Given the description of an element on the screen output the (x, y) to click on. 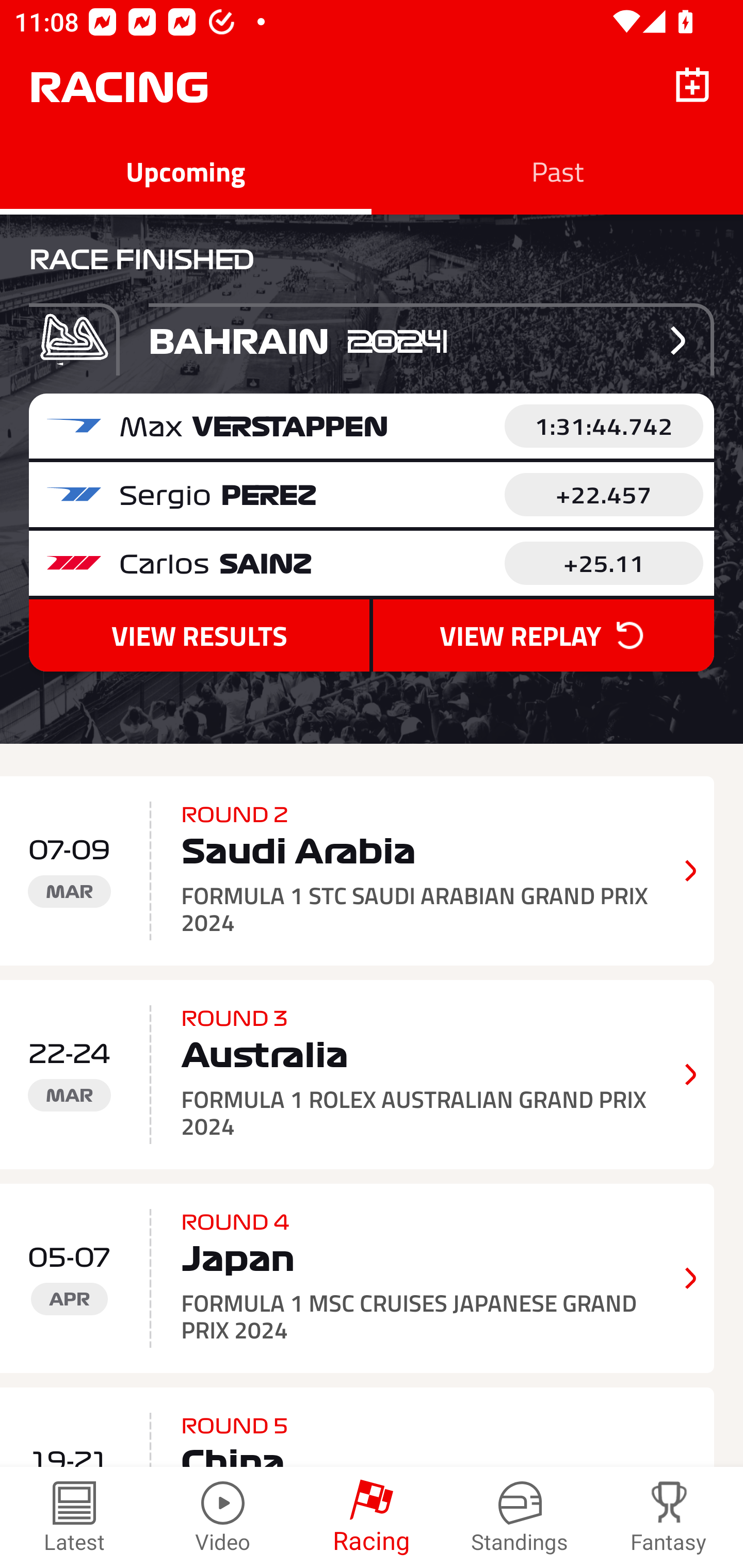
Past (557, 171)
VIEW RESULTS (198, 634)
VIEW REPLAY (543, 634)
Latest (74, 1517)
Video (222, 1517)
Standings (519, 1517)
Fantasy (668, 1517)
